Given the description of an element on the screen output the (x, y) to click on. 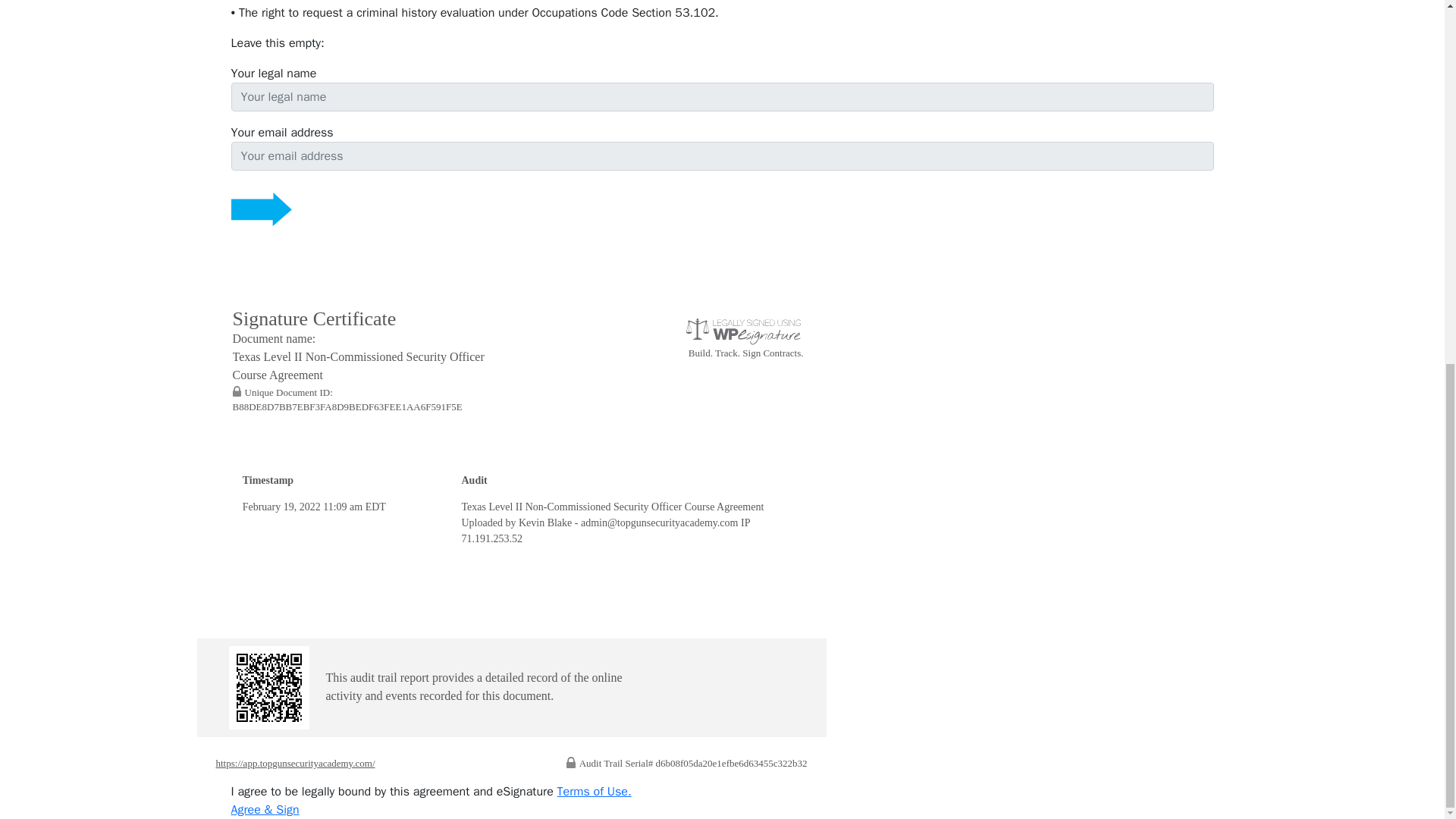
Agree and submit your signature. (264, 809)
Terms of Use. (594, 791)
